Given the description of an element on the screen output the (x, y) to click on. 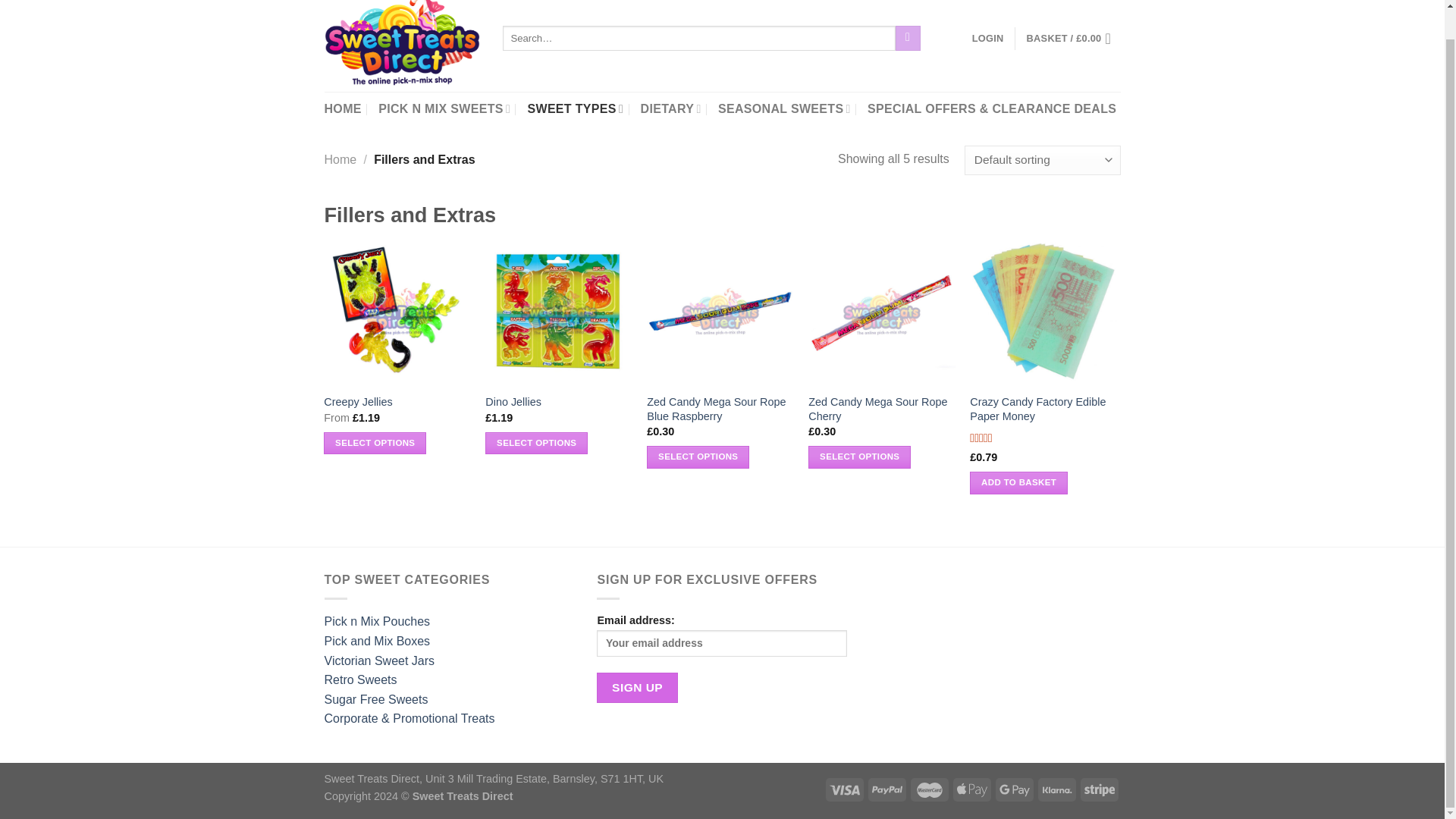
HOME (342, 108)
Sweet Treats Direct (402, 42)
SWEET TYPES (575, 108)
SEASONAL SWEETS (783, 108)
PICK N MIX SWEETS (444, 108)
Search (907, 38)
DIETARY (670, 108)
LOGIN (988, 37)
Sign up (636, 686)
Basket (1073, 37)
